Given the description of an element on the screen output the (x, y) to click on. 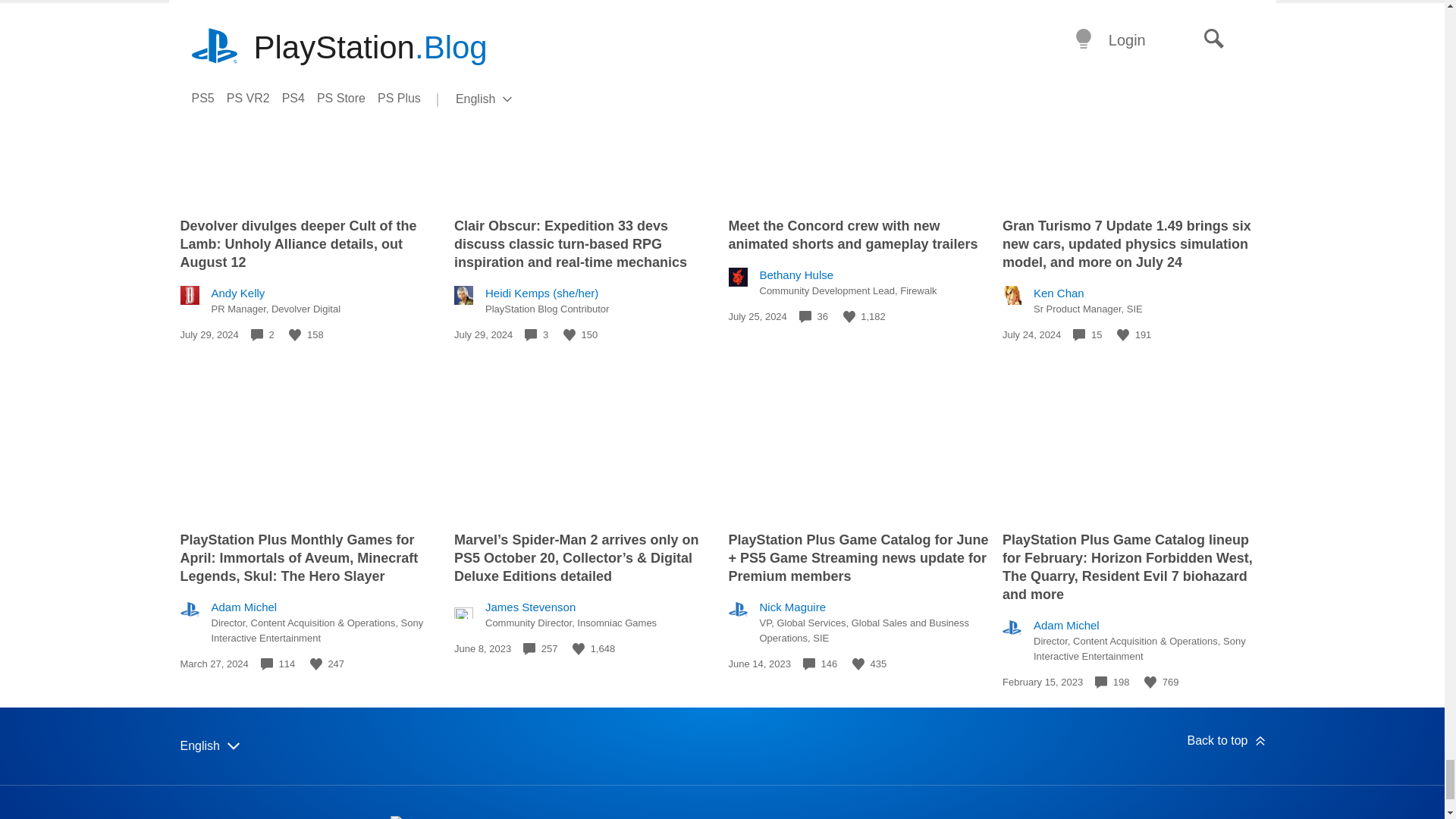
Like this (569, 335)
Like this (294, 335)
Like this (849, 316)
Like this (1122, 335)
